Given the description of an element on the screen output the (x, y) to click on. 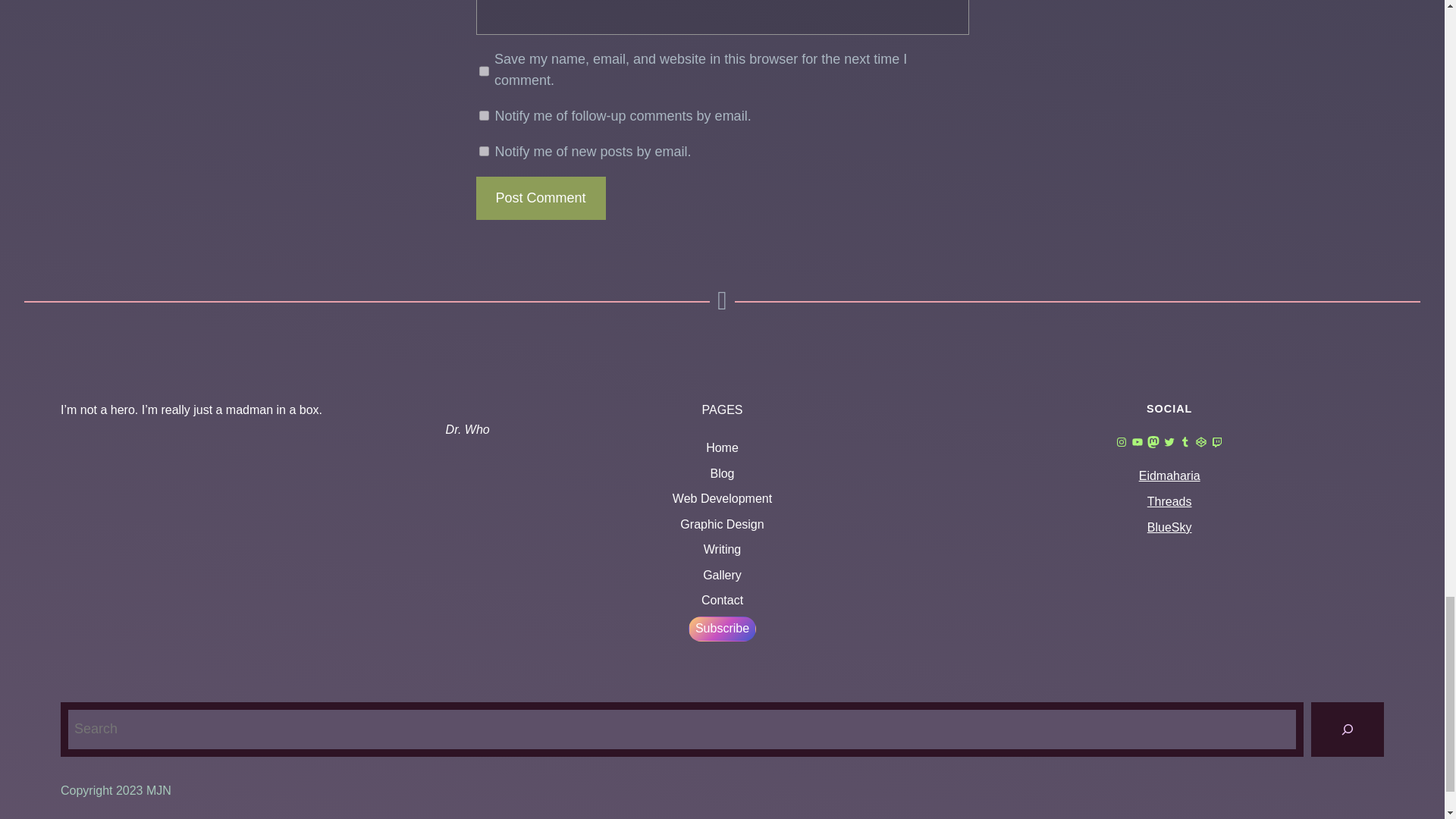
subscribe (484, 151)
Post Comment (540, 198)
subscribe (484, 115)
